Given the description of an element on the screen output the (x, y) to click on. 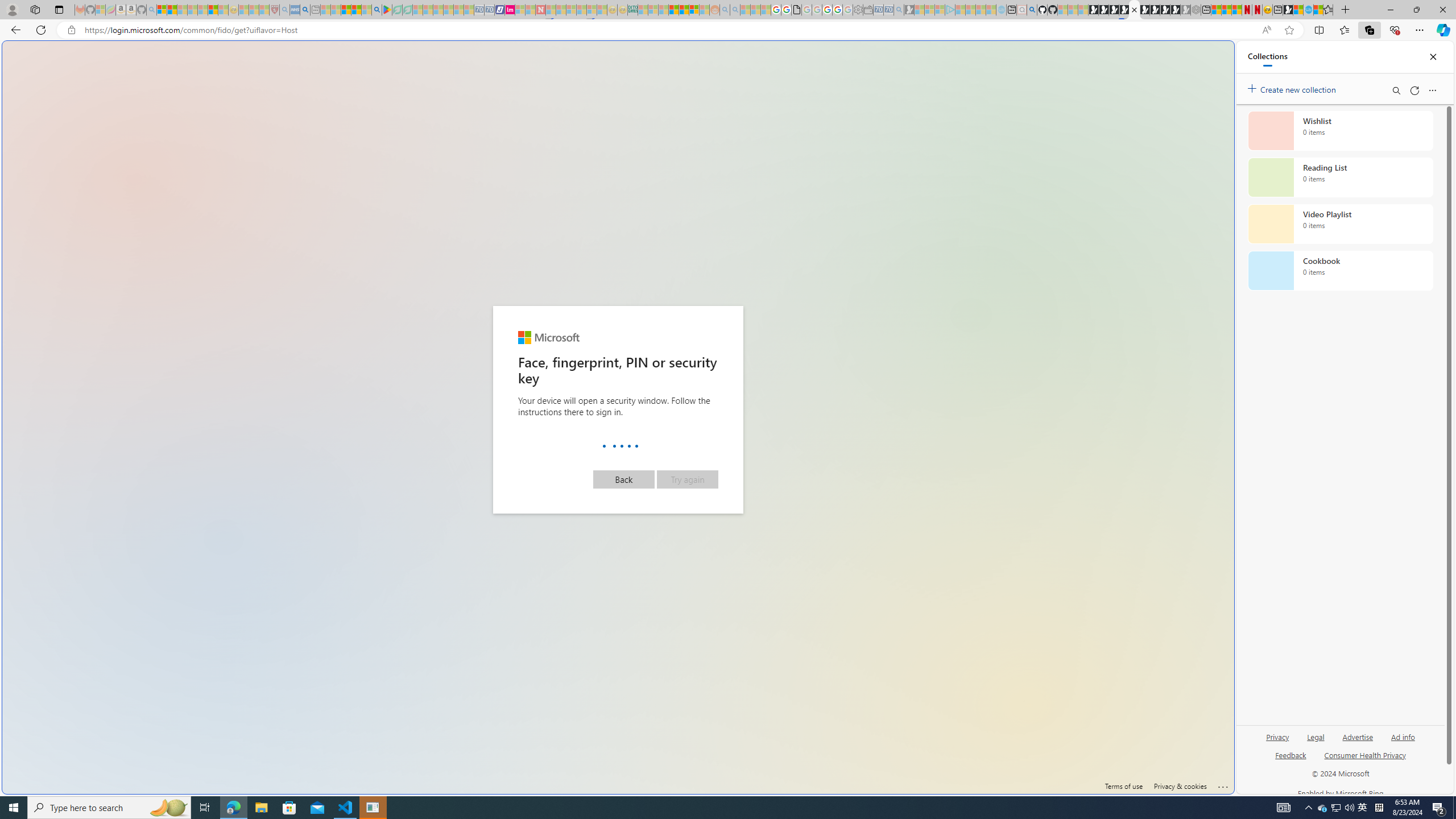
Home | Sky Blue Bikes - Sky Blue Bikes - Sleeping (1001, 9)
Tabs you've opened (885, 151)
Wishlist collection, 0 items (1339, 130)
World - MSN (727, 389)
Frequently visited (965, 151)
MSNBC - MSN - Sleeping (642, 9)
Cheap Hotels - Save70.com - Sleeping (489, 9)
Ad info (1402, 741)
Privacy & cookies (1180, 786)
